Given the description of an element on the screen output the (x, y) to click on. 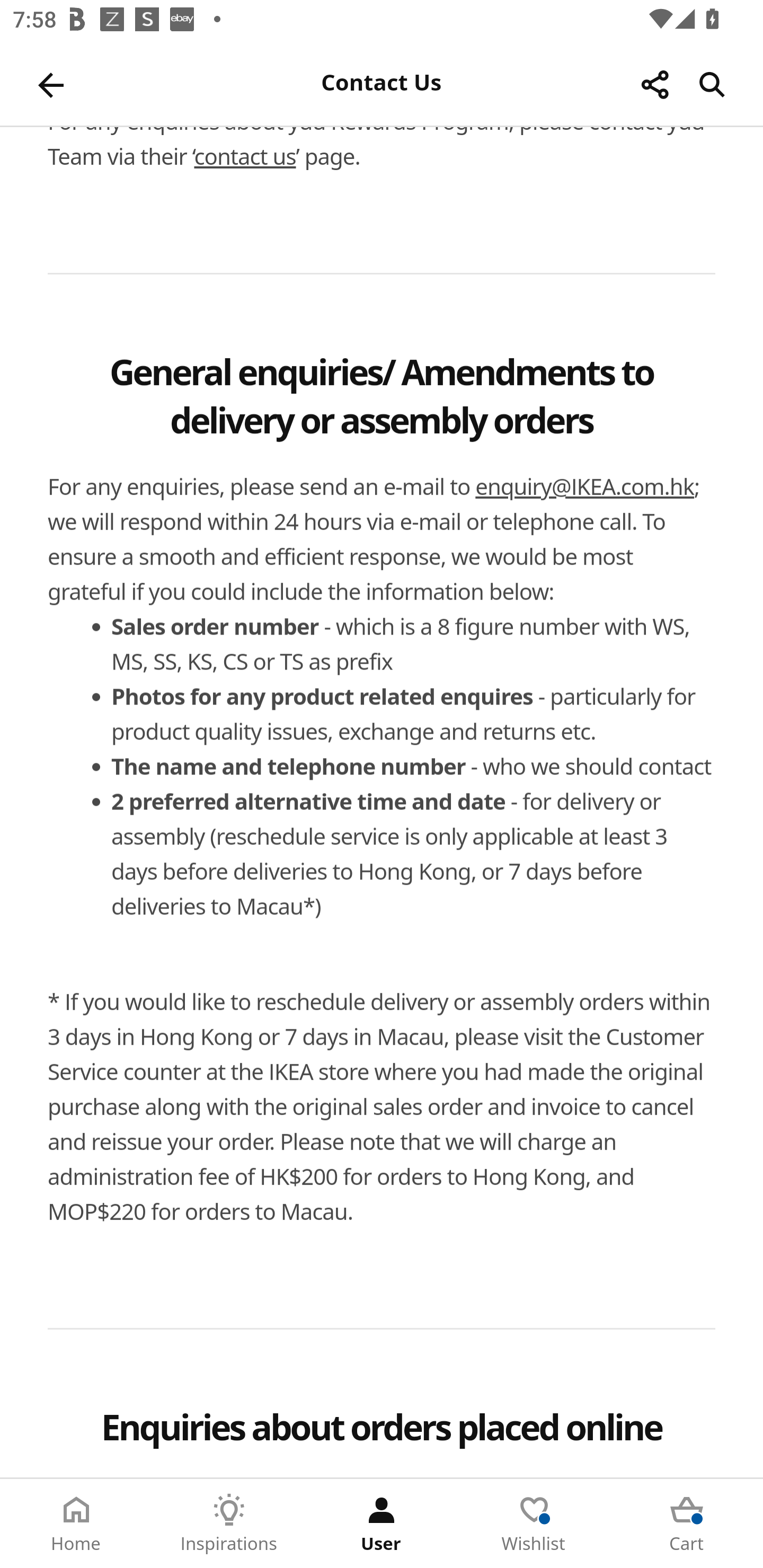
contact us (245, 156)
enquiry@IKEA.com.hk (584, 487)
Home
Tab 1 of 5 (76, 1522)
Inspirations
Tab 2 of 5 (228, 1522)
User
Tab 3 of 5 (381, 1522)
Wishlist
Tab 4 of 5 (533, 1522)
Cart
Tab 5 of 5 (686, 1522)
